Given the description of an element on the screen output the (x, y) to click on. 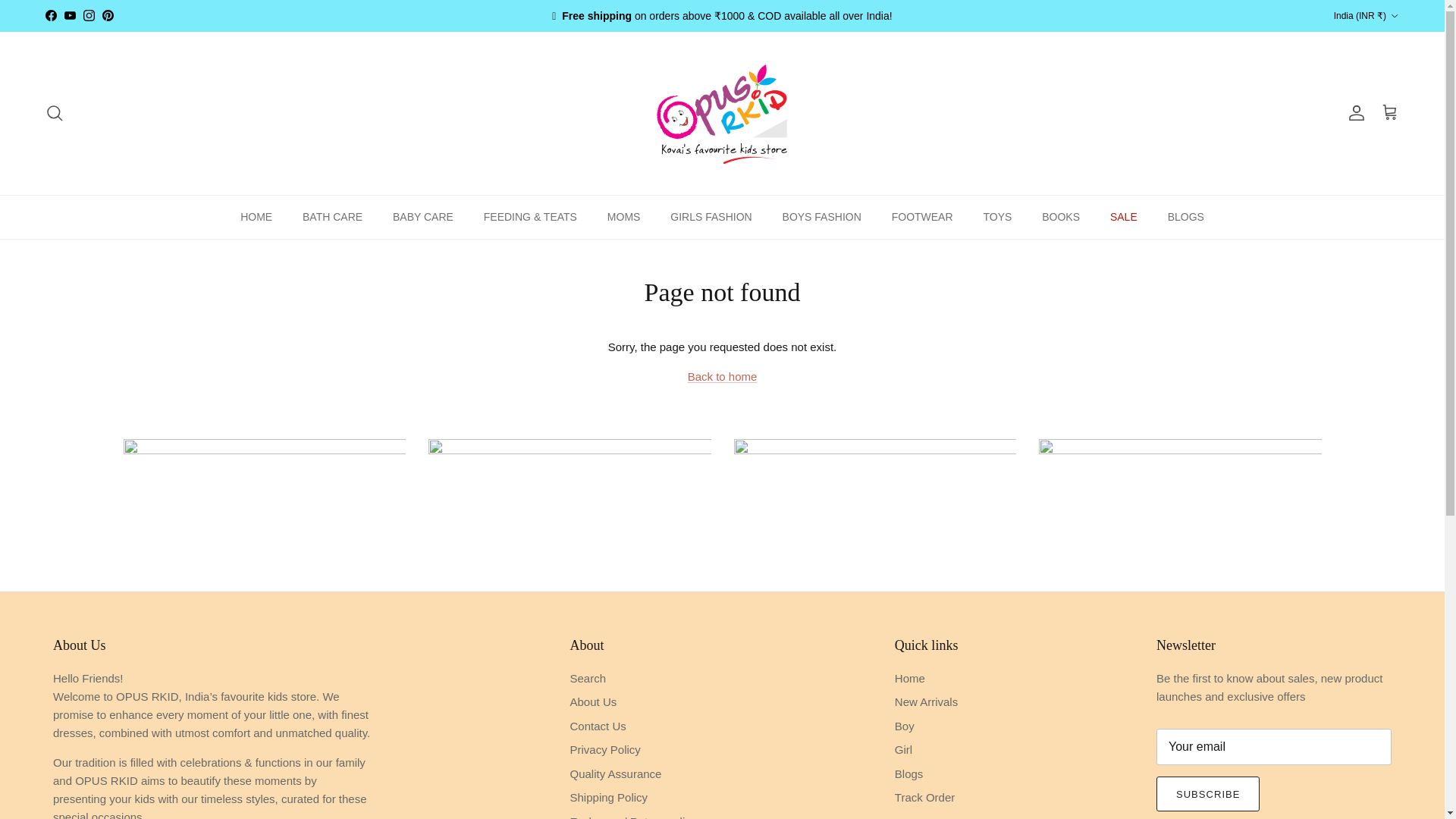
BABY CARE (422, 217)
Cart (1389, 112)
Pinterest (107, 15)
YouTube (69, 15)
BATH CARE (331, 217)
Facebook (50, 15)
Instagram (88, 15)
OPUS RKID (722, 112)
OPUS RKID on YouTube (69, 15)
OPUS RKID on Facebook (50, 15)
